Given the description of an element on the screen output the (x, y) to click on. 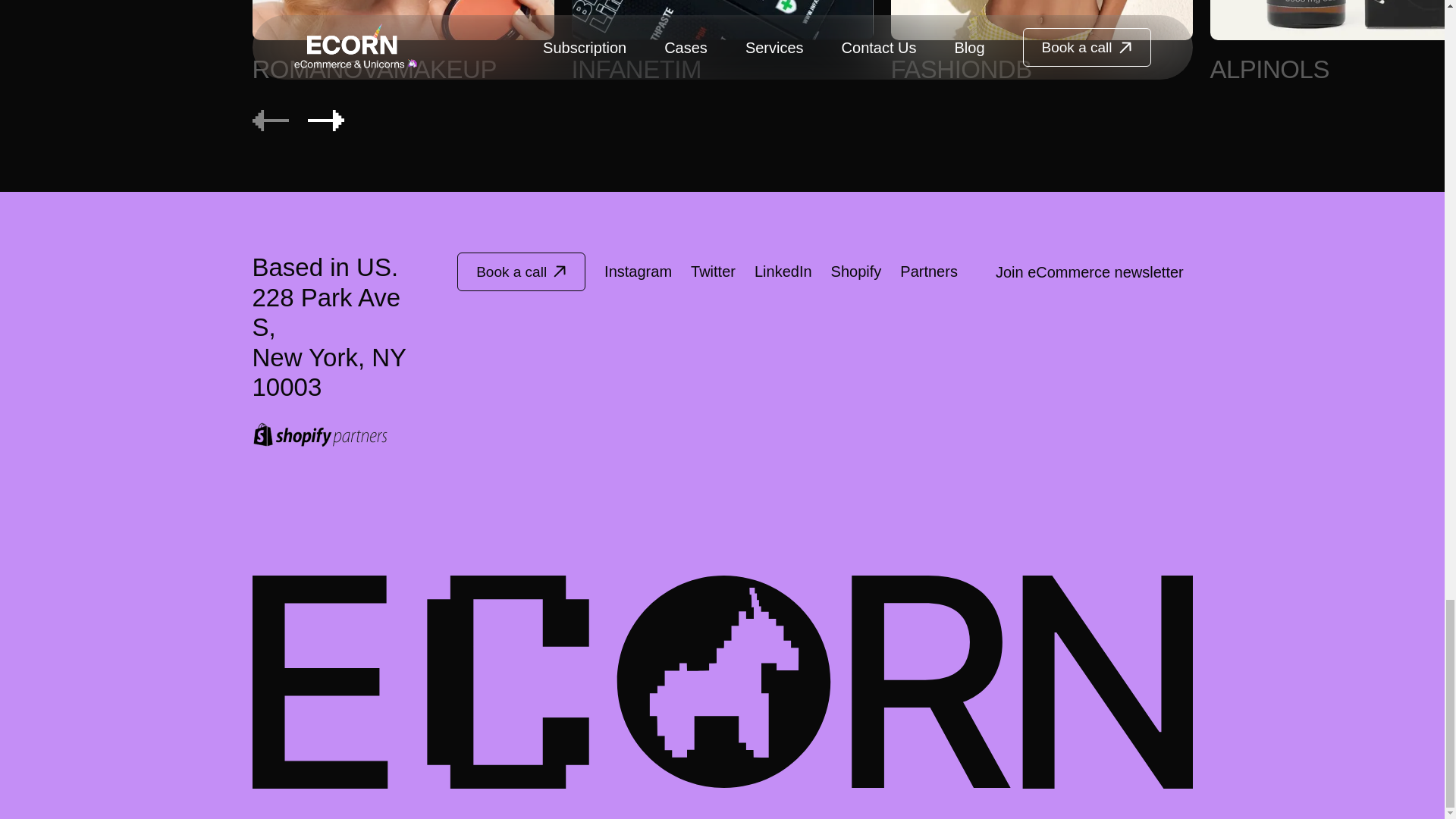
Shopify (856, 271)
Partners (928, 271)
Book a call (521, 271)
Instagram (637, 271)
Twitter (1040, 43)
LinkedIn (402, 43)
